Given the description of an element on the screen output the (x, y) to click on. 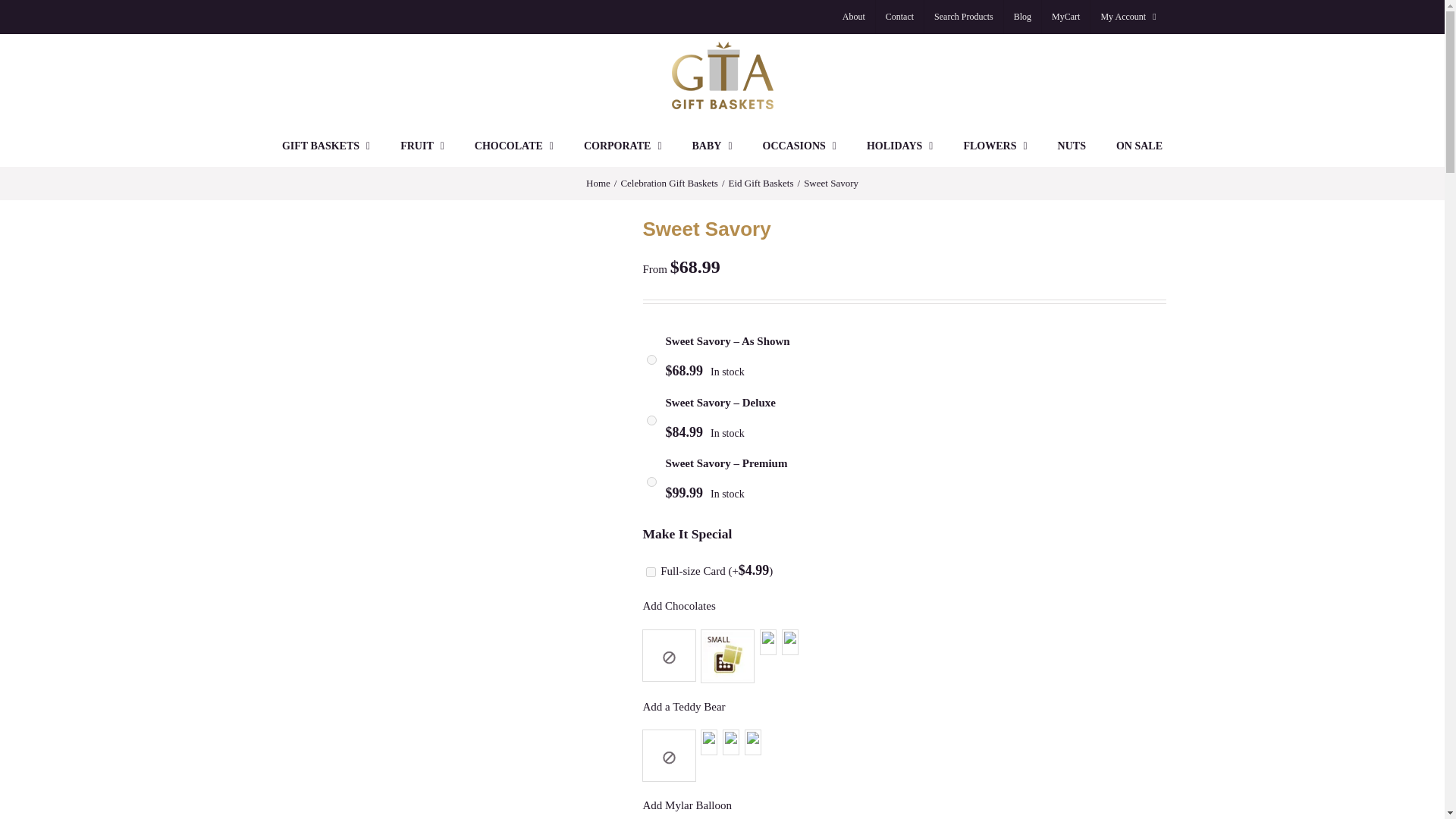
FRUIT (422, 146)
on (651, 420)
Contact (899, 16)
CORPORATE (622, 146)
None (669, 654)
About (853, 16)
OCCASIONS (798, 146)
full-size-card (651, 572)
None (669, 756)
CHOCOLATE (513, 146)
